Given the description of an element on the screen output the (x, y) to click on. 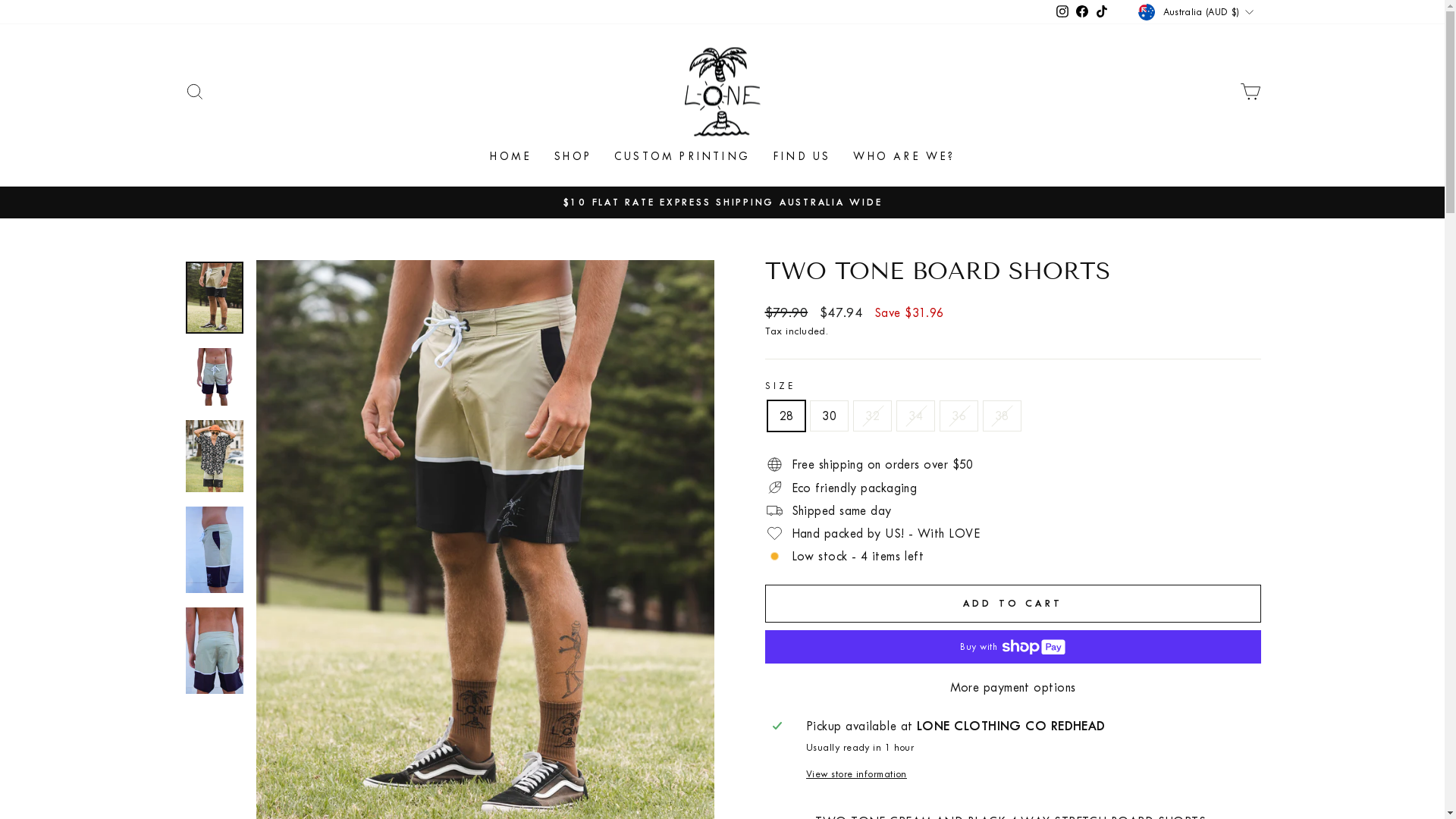
Australia (AUD $) Element type: text (1197, 12)
SHOP Element type: text (572, 157)
TikTok Element type: text (1101, 11)
CUSTOM PRINTING Element type: text (681, 157)
SEARCH Element type: text (193, 91)
FIND US Element type: text (801, 157)
More payment options Element type: text (1012, 687)
ADD TO CART Element type: text (1012, 603)
Facebook Element type: text (1082, 11)
CART Element type: text (1249, 91)
WHO ARE WE? Element type: text (903, 157)
HOME Element type: text (510, 157)
BLACK FRIDAY SALEUP TO 60% OFF Element type: text (722, 202)
View store information Element type: text (1029, 773)
Instagram Element type: text (1062, 11)
